Given the description of an element on the screen output the (x, y) to click on. 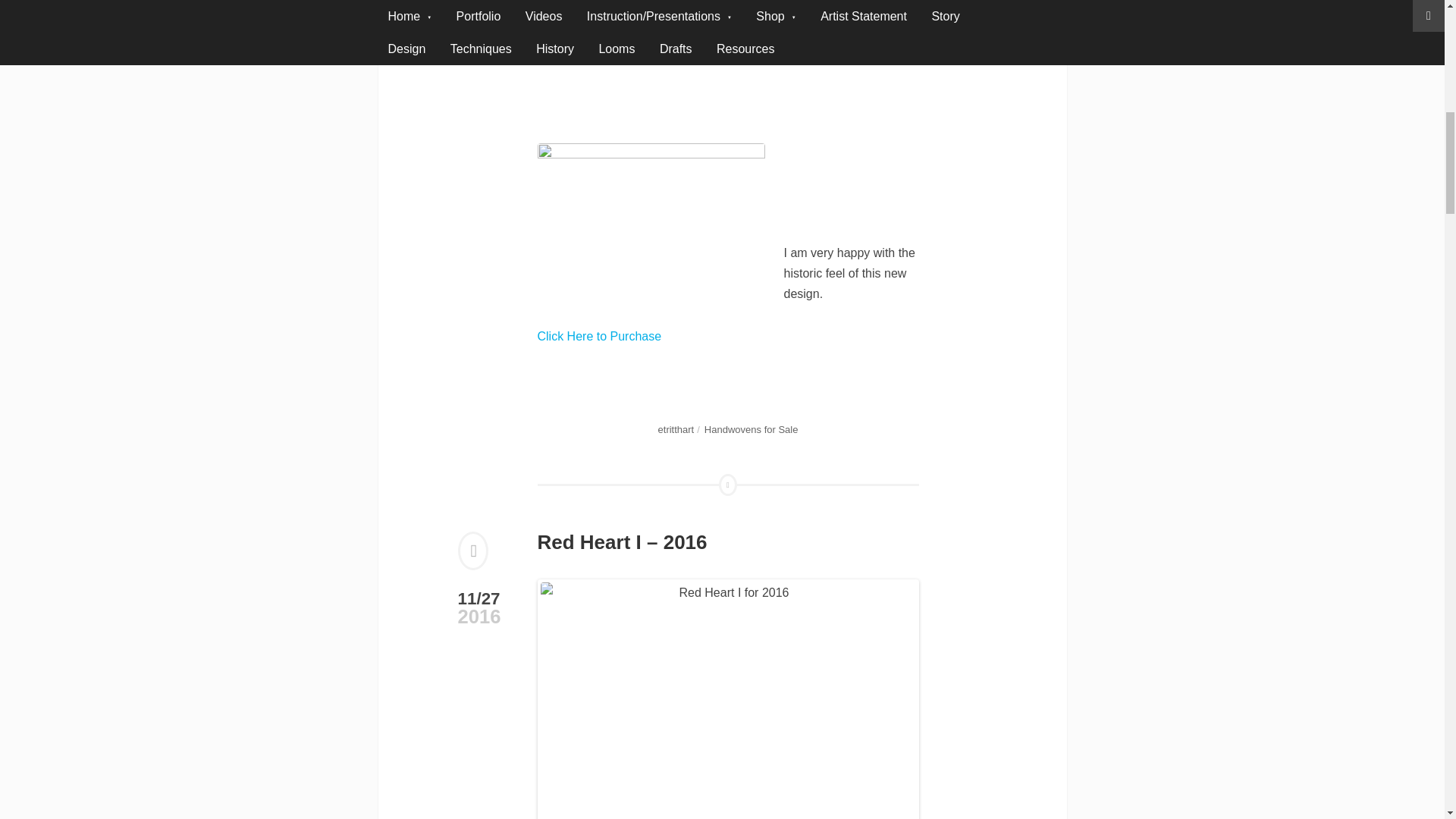
etritthart (676, 429)
Click Here to Purchase (599, 336)
Handwovens for Sale (750, 429)
